Given the description of an element on the screen output the (x, y) to click on. 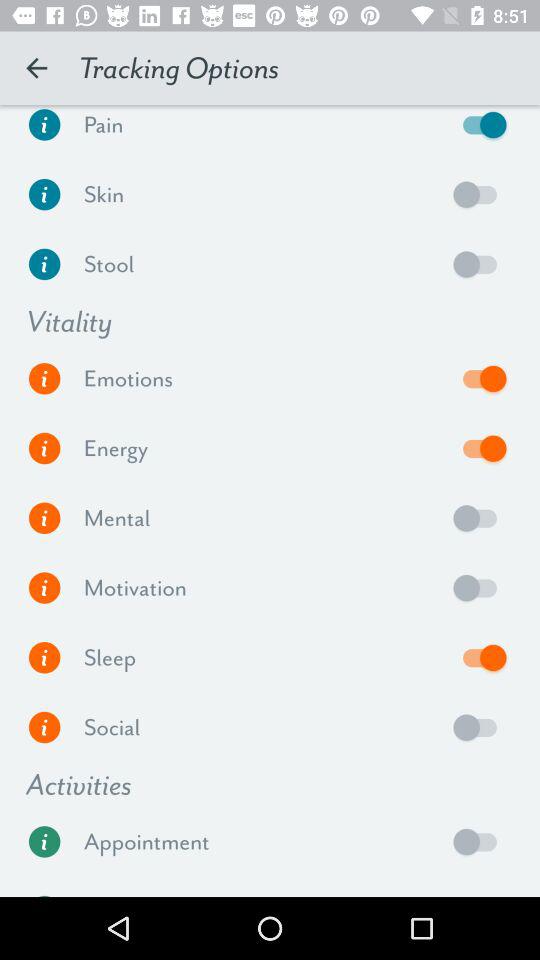
read more info on energy (44, 448)
